Given the description of an element on the screen output the (x, y) to click on. 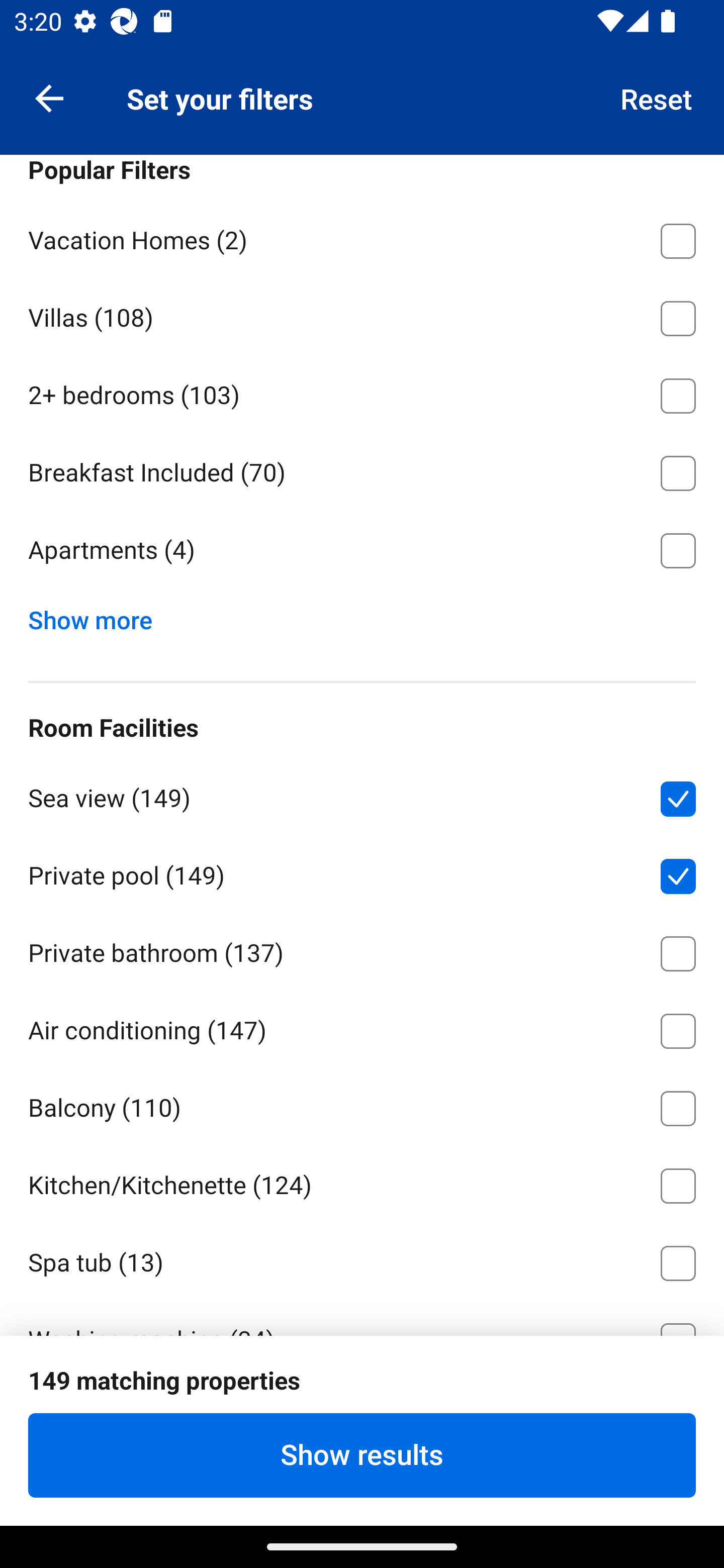
Navigate up (49, 97)
Reset (656, 97)
Vacation Homes ⁦(2) (361, 237)
Villas ⁦(108) (361, 314)
2+ bedrooms ⁦(103) (361, 392)
Breakfast Included ⁦(70) (361, 469)
Apartments ⁦(4) (361, 550)
Show more (97, 615)
Sea view ⁦(149) (361, 795)
Private pool ⁦(149) (361, 872)
Private bathroom ⁦(137) (361, 950)
Air conditioning ⁦(147) (361, 1027)
Balcony ⁦(110) (361, 1104)
Kitchen/Kitchenette ⁦(124) (361, 1182)
Spa tub ⁦(13) (361, 1259)
Show results (361, 1454)
